Given the description of an element on the screen output the (x, y) to click on. 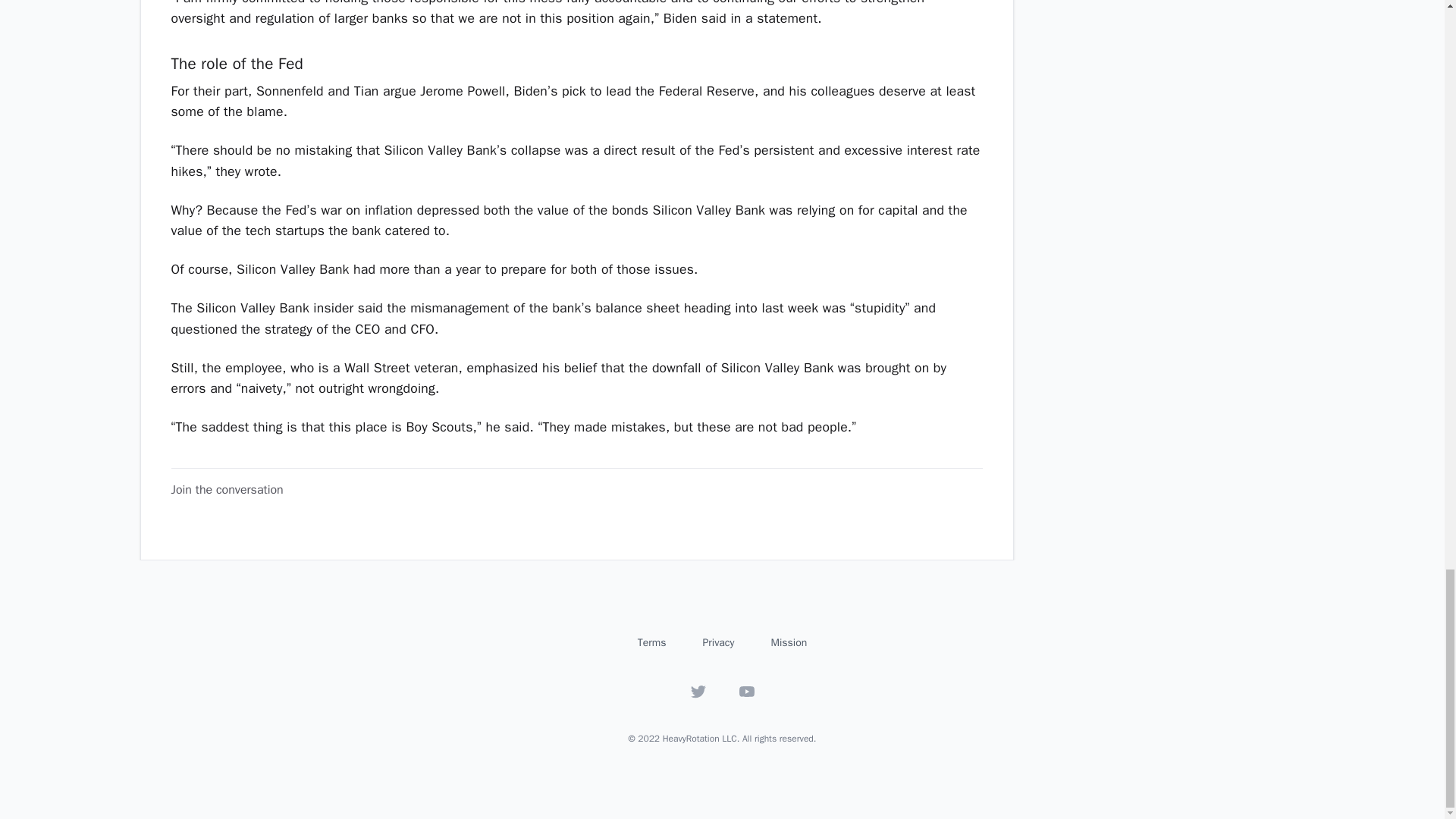
Terms (651, 642)
Mission (788, 642)
Privacy (717, 642)
